Given the description of an element on the screen output the (x, y) to click on. 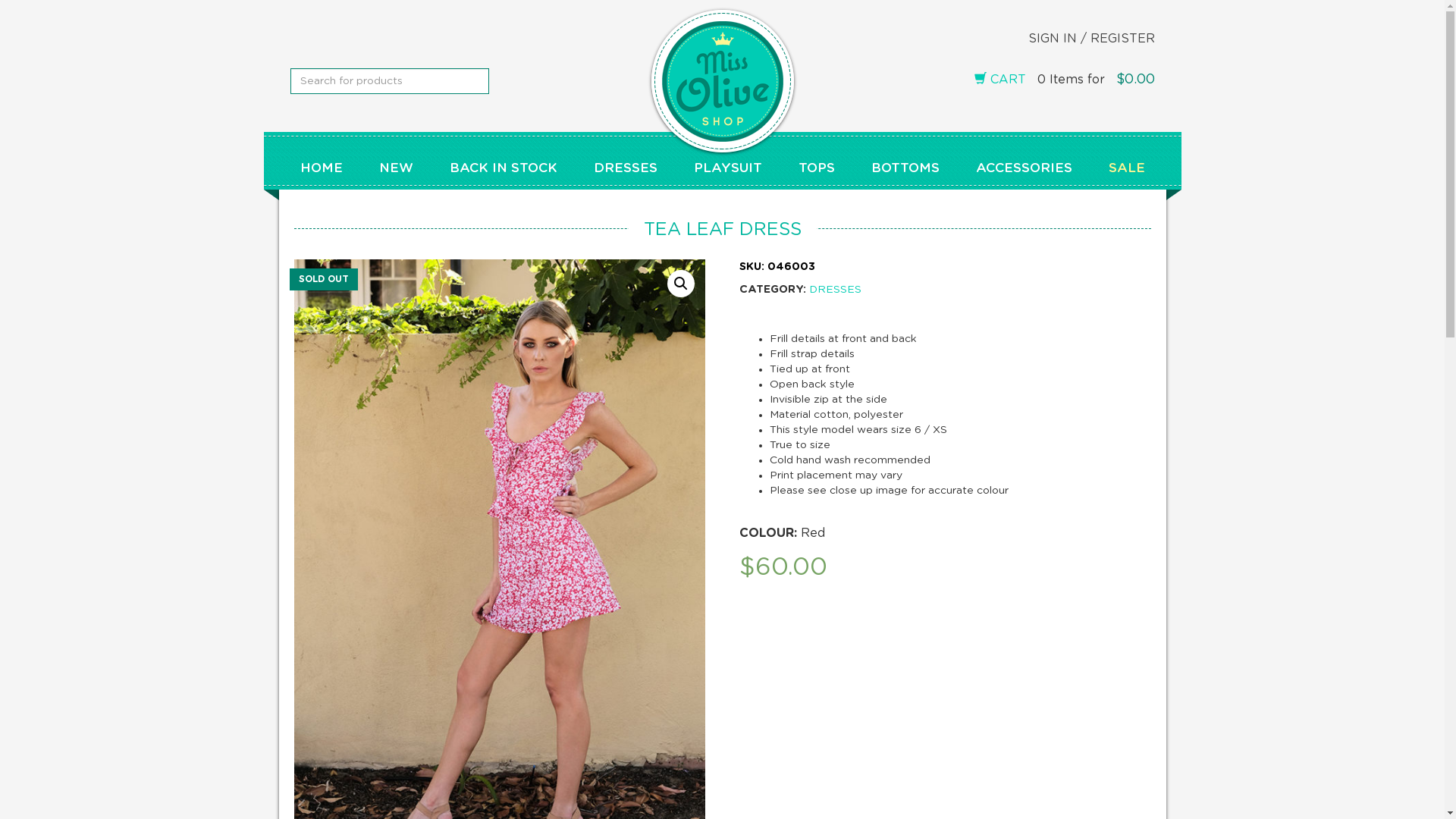
SALE Element type: text (1126, 167)
DRESSES Element type: text (835, 289)
ACCESSORIES Element type: text (1023, 167)
BACK IN STOCK Element type: text (502, 167)
SIGN IN / REGISTER Element type: text (1075, 38)
BOTTOMS Element type: text (904, 167)
CART Element type: text (999, 79)
TOPS Element type: text (815, 167)
HOME Element type: text (321, 167)
PLAYSUIT Element type: text (727, 167)
DRESSES Element type: text (624, 167)
NEW Element type: text (396, 167)
